Given the description of an element on the screen output the (x, y) to click on. 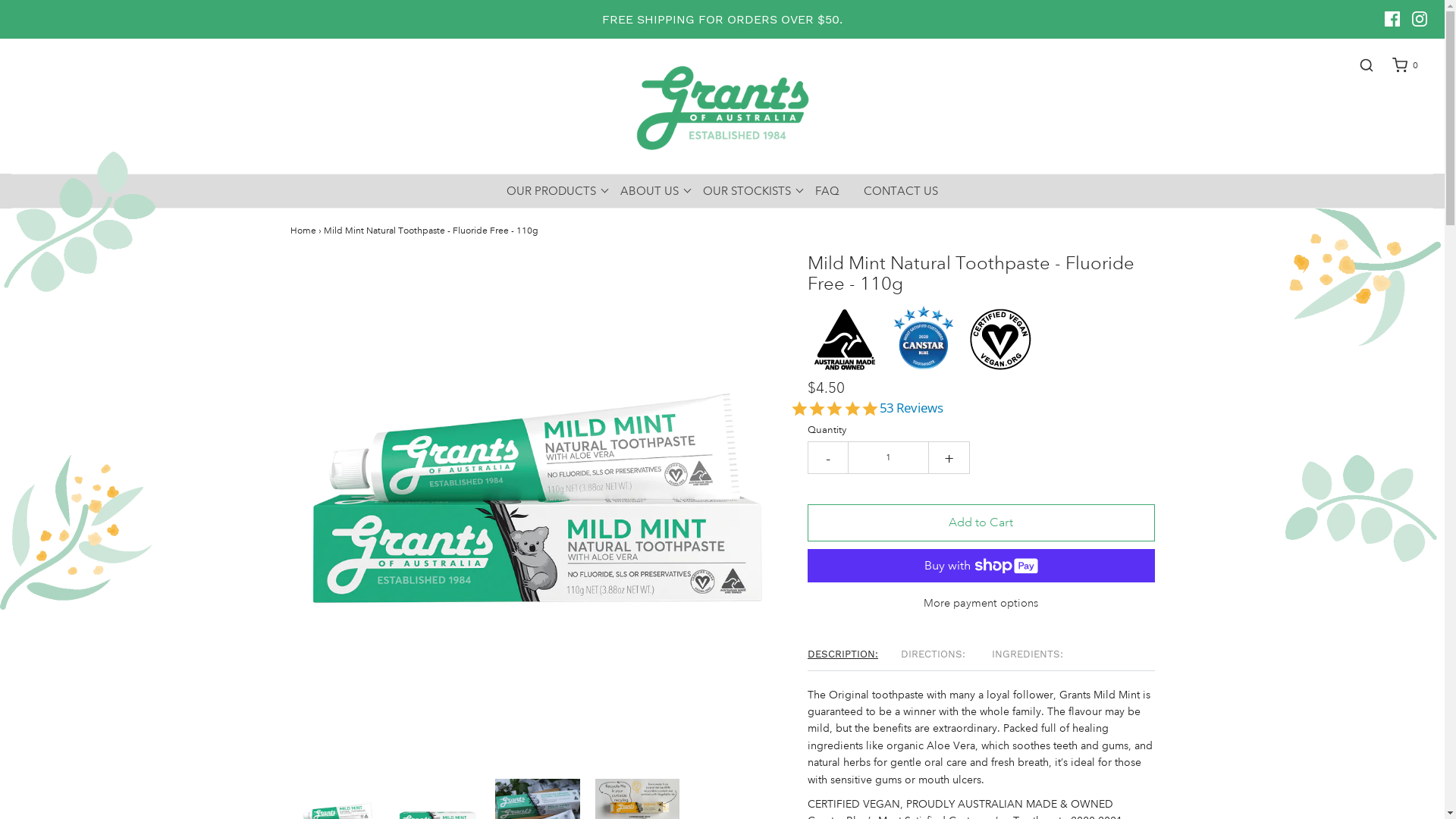
Home Element type: text (302, 230)
0 Element type: text (1396, 64)
DIRECTIONS:  Element type: text (945, 651)
Facebook icon Element type: text (1391, 18)
DESCRIPTION: Element type: text (853, 651)
ABOUT US Element type: text (649, 190)
OUR STOCKISTS Element type: text (746, 190)
Search Element type: hover (1358, 64)
More payment options Element type: text (980, 596)
Search Element type: hover (1427, 15)
INGREDIENTS: Element type: text (1038, 651)
Add to Cart Element type: text (980, 522)
FAQ Element type: text (826, 190)
- Element type: text (827, 457)
CONTACT US Element type: text (900, 190)
53 Reviews Element type: text (903, 406)
Instagram icon Element type: text (1419, 18)
OUR PRODUCTS Element type: text (551, 190)
+ Element type: text (948, 457)
